Given the description of an element on the screen output the (x, y) to click on. 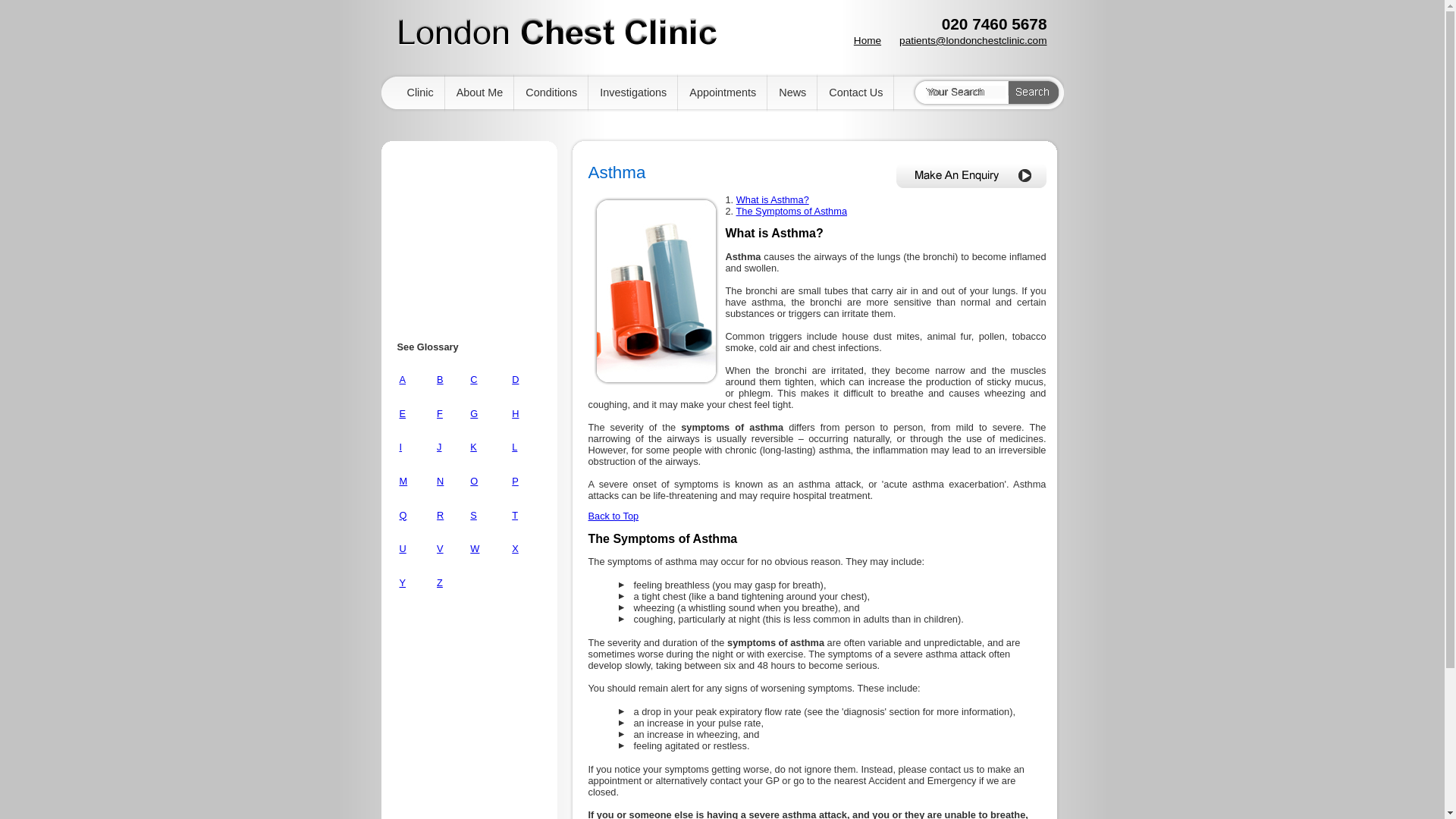
News (791, 92)
Conditions (550, 92)
Investigations (633, 92)
Appointments (722, 92)
Your Search (966, 91)
Clinic (420, 92)
Home (866, 40)
About Me (480, 92)
